Given the description of an element on the screen output the (x, y) to click on. 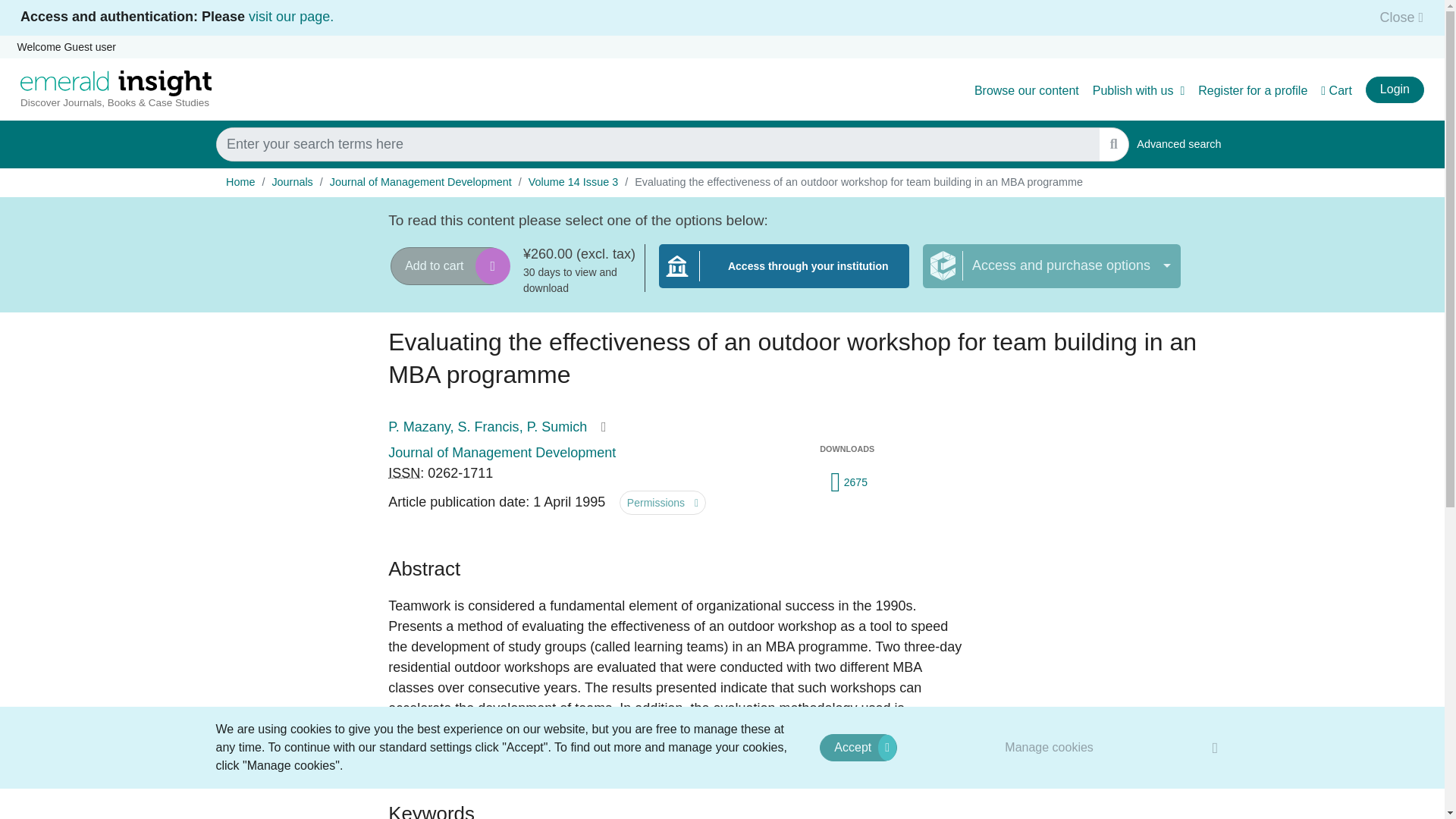
Login (1394, 89)
International Standard Serial Number. (404, 473)
Cart (1336, 90)
Close (1397, 17)
Manage cookies (1049, 747)
Register for a profile (1252, 90)
Browse our content (1026, 90)
Publish with us (1139, 90)
SUBMIT (1113, 143)
